Given the description of an element on the screen output the (x, y) to click on. 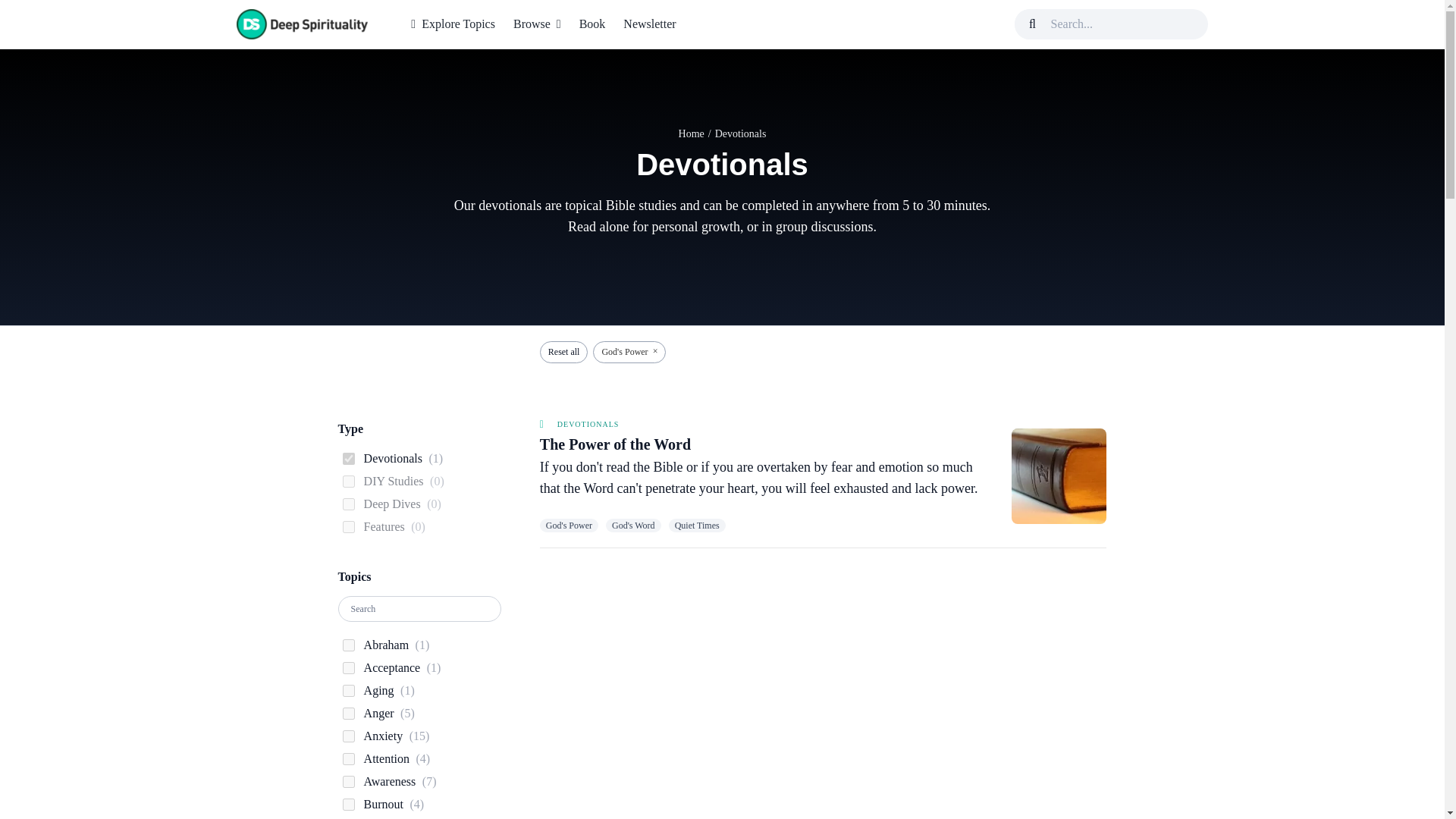
on (348, 667)
The Power of the Word 1 (300, 24)
The Power of the Word 4 (1058, 476)
Devotionals (588, 424)
God's Power (569, 525)
on (348, 690)
on (348, 526)
on (348, 736)
God's Word (633, 525)
Quiet Times (696, 525)
on (348, 804)
on (348, 458)
on (348, 503)
on (348, 481)
Newsletter (649, 24)
